Given the description of an element on the screen output the (x, y) to click on. 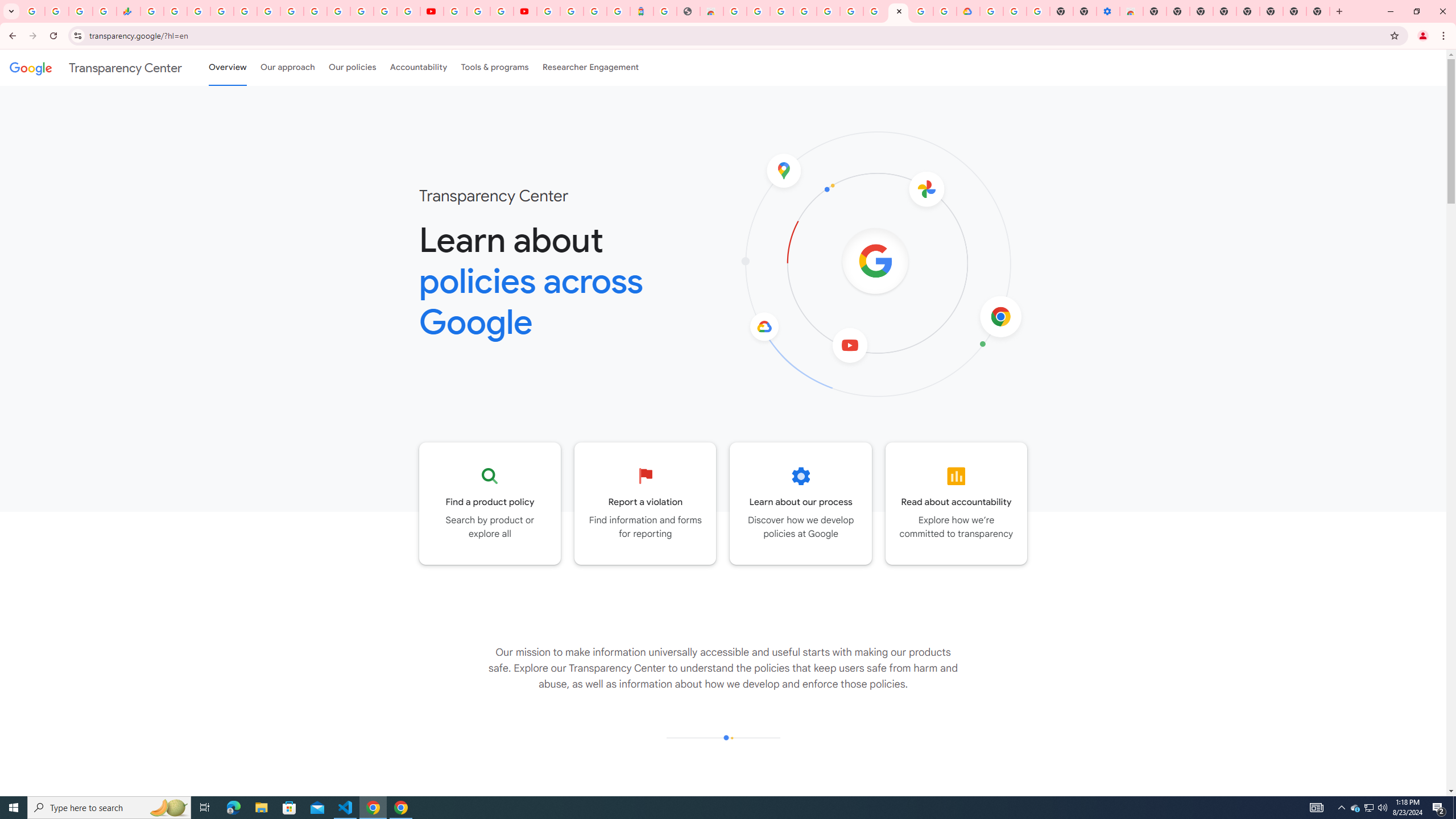
Overview (226, 67)
Sign in - Google Accounts (384, 11)
Google Workspace Admin Community (32, 11)
Forward (32, 35)
Chrome (1445, 35)
Sign in - Google Accounts (338, 11)
Bookmark this tab (1393, 35)
Our approach (287, 67)
Create your Google Account (757, 11)
View site information (77, 35)
Google Account Help (1015, 11)
Transparency Center (95, 67)
